Given the description of an element on the screen output the (x, y) to click on. 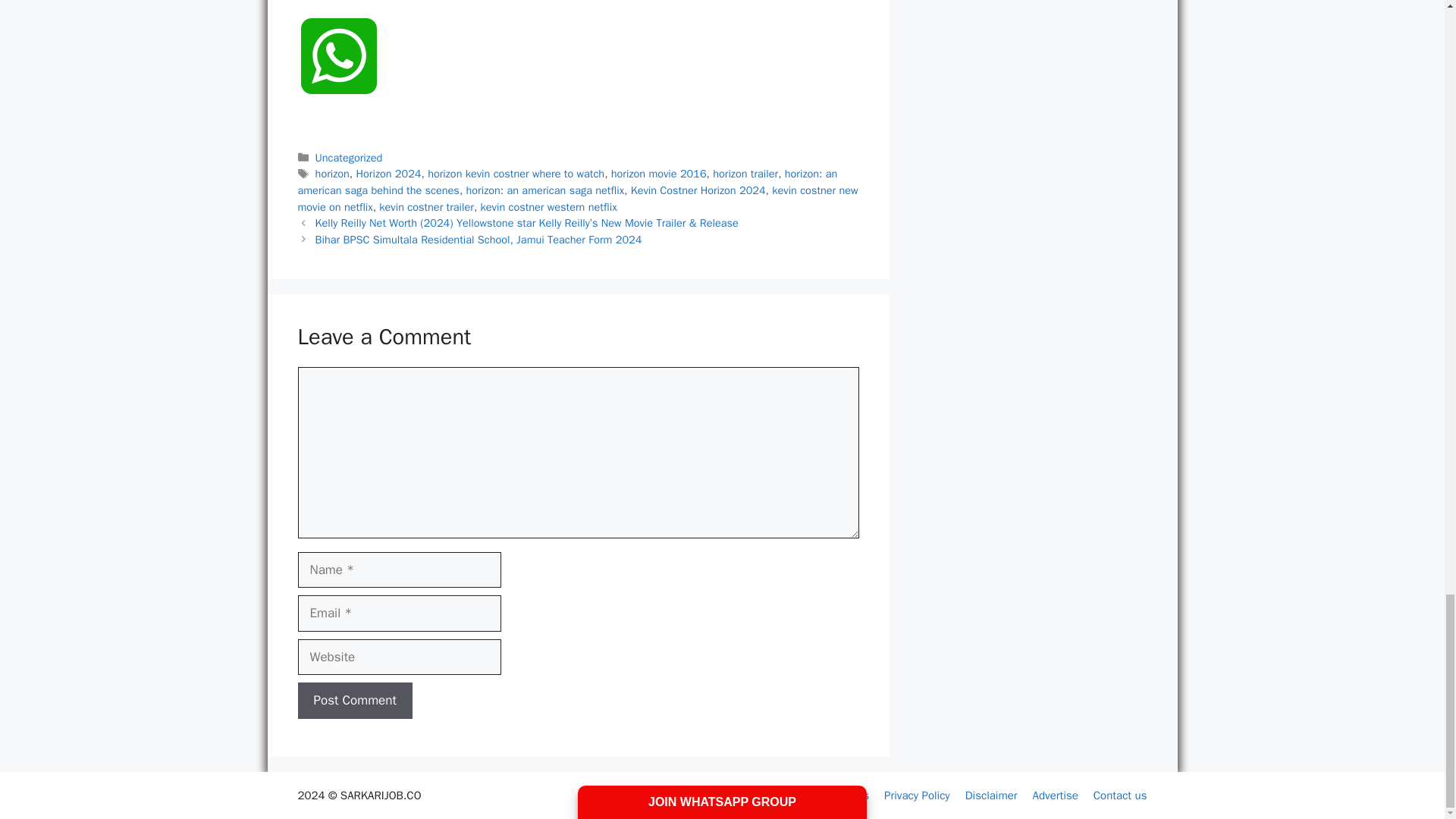
horizon movie 2016 (658, 173)
WhatsApp (337, 72)
Horizon 2024 (389, 173)
Kevin Costner Horizon 2024 (697, 190)
horizon kevin costner where to watch (516, 173)
Uncategorized (348, 157)
horizon (332, 173)
Post Comment (354, 700)
WhatsApp (337, 72)
kevin costner new movie on netflix (577, 198)
horizon: an american saga netflix (544, 190)
kevin costner trailer (426, 206)
horizon: an american saga behind the scenes (567, 182)
horizon trailer (745, 173)
